Given the description of an element on the screen output the (x, y) to click on. 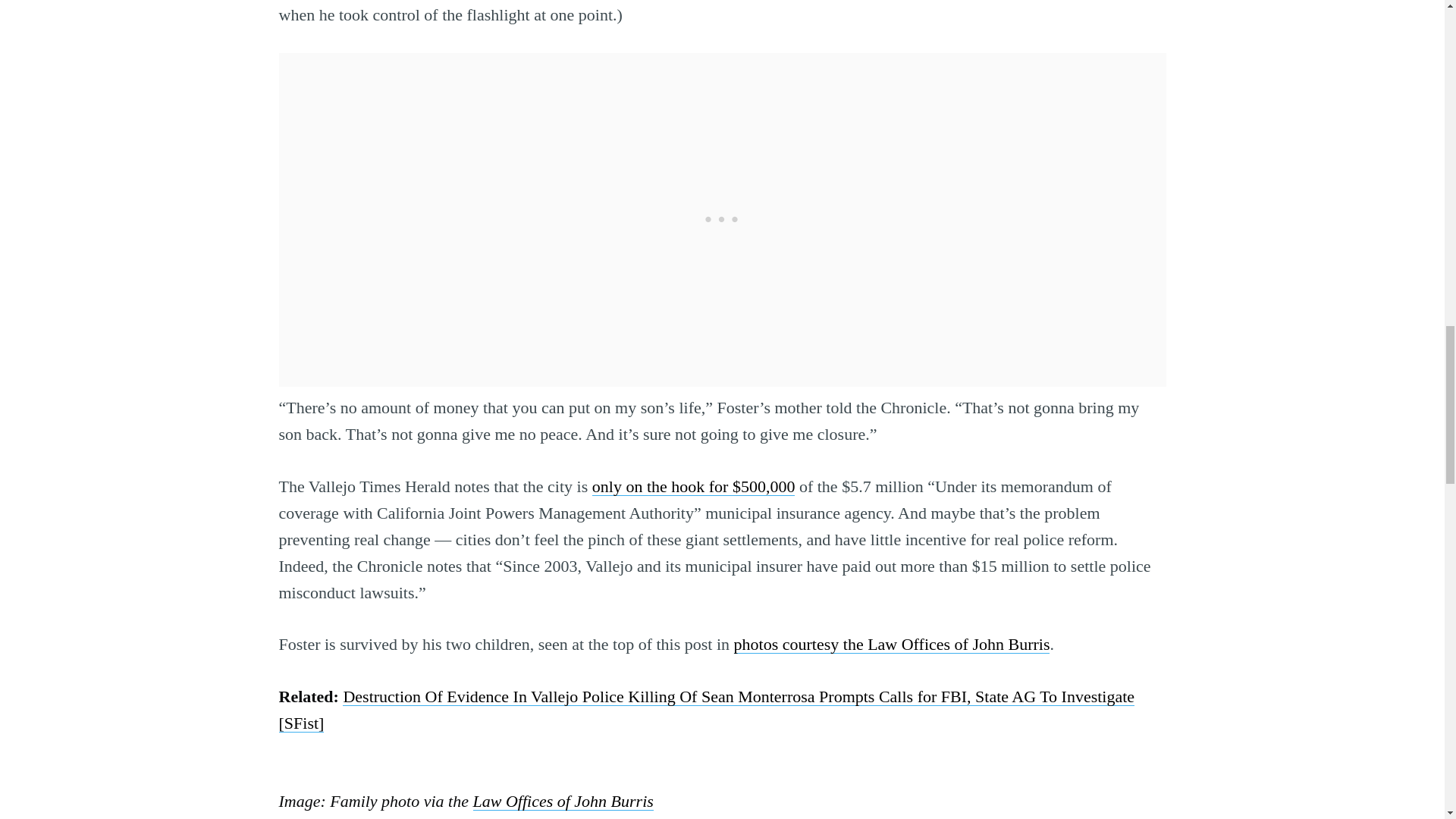
Law Offices of John Burris (563, 800)
photos courtesy the Law Offices of John Burris (891, 643)
